Given the description of an element on the screen output the (x, y) to click on. 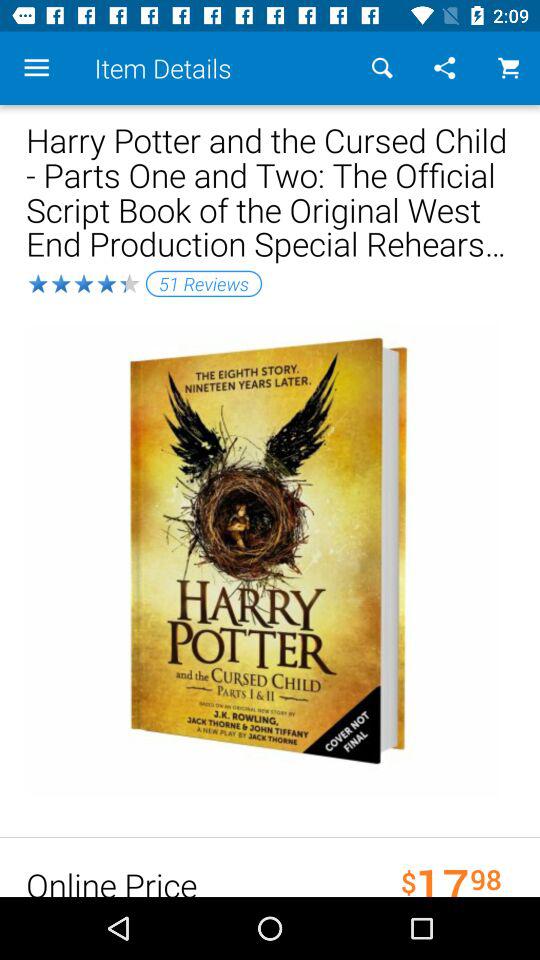
press item above the harry potter and (508, 67)
